Given the description of an element on the screen output the (x, y) to click on. 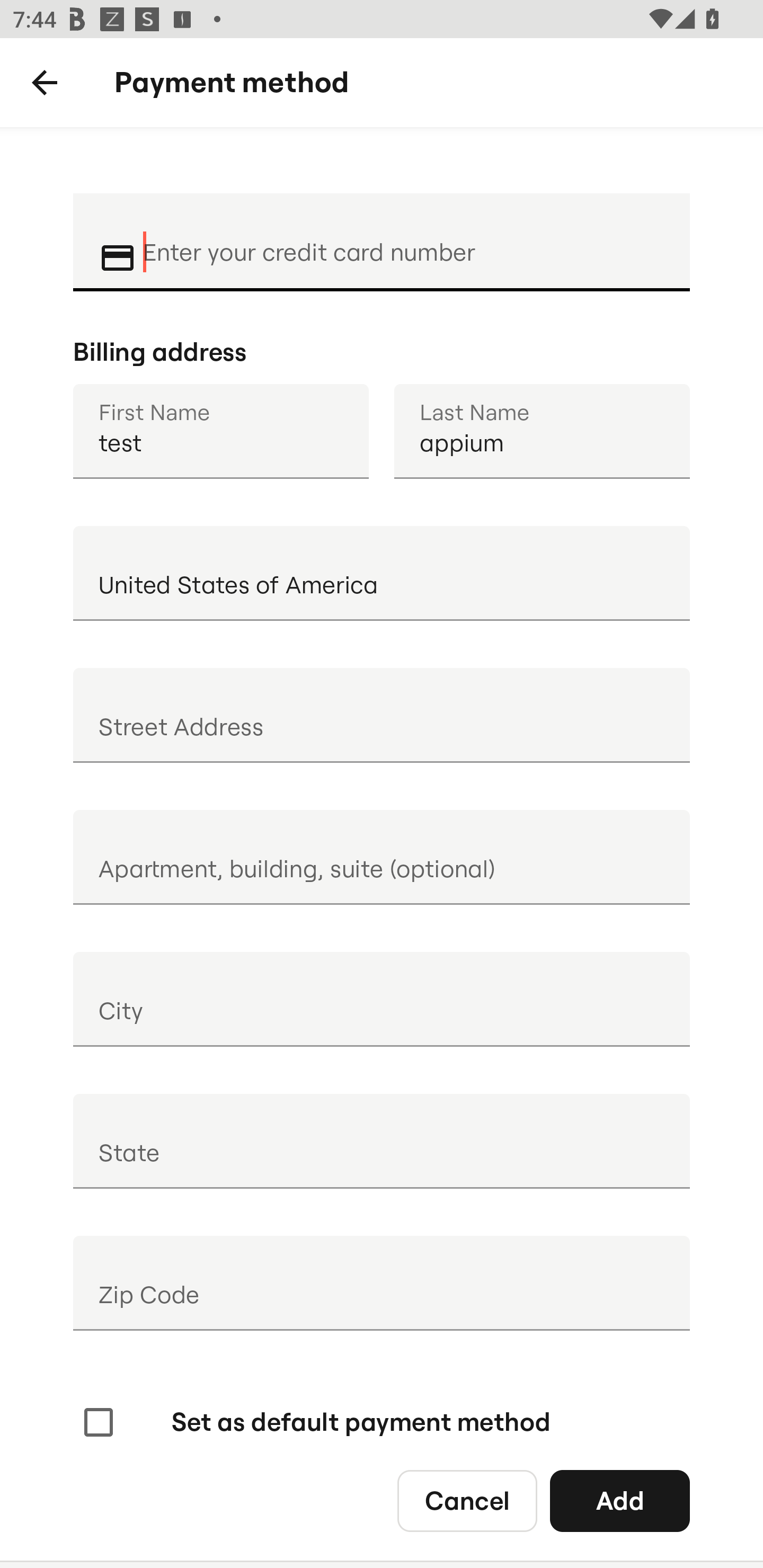
Back (44, 82)
Enter your credit card number (403, 240)
test (220, 431)
appium (541, 431)
United States of America (381, 572)
Street Address (381, 714)
Apartment, building, suite (optional) (381, 857)
City (381, 999)
State (381, 1141)
Zip Code (381, 1283)
Set as default payment method (314, 1421)
Cancel (467, 1500)
Add (619, 1500)
